Given the description of an element on the screen output the (x, y) to click on. 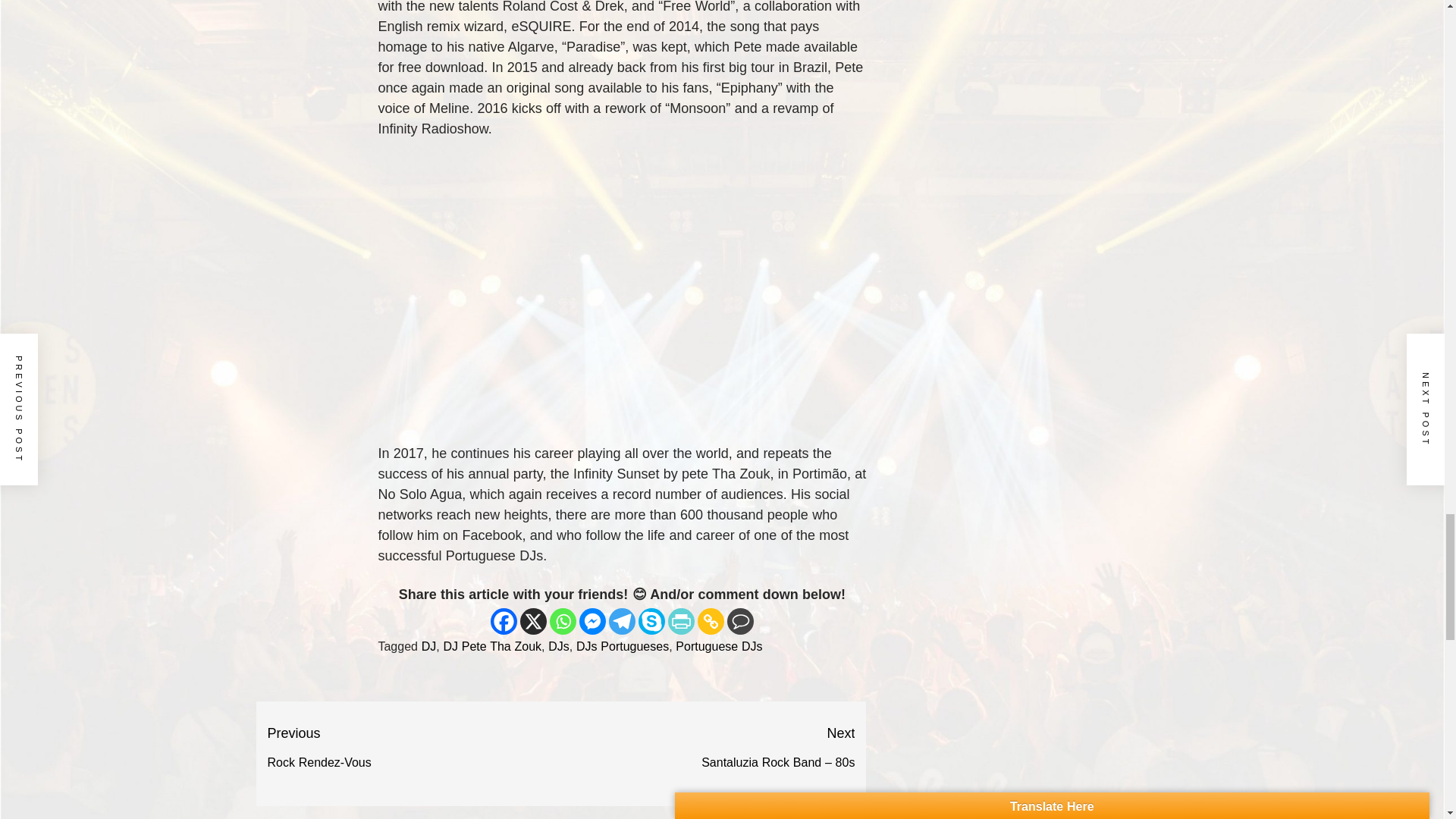
PrintFriendly (681, 621)
X (533, 621)
DJs Portugueses (622, 645)
DJ Pete Tha Zouk (413, 747)
comment (491, 645)
DJ (740, 621)
Facebook (429, 645)
DJs (503, 621)
Portuguese DJs (558, 645)
